Given the description of an element on the screen output the (x, y) to click on. 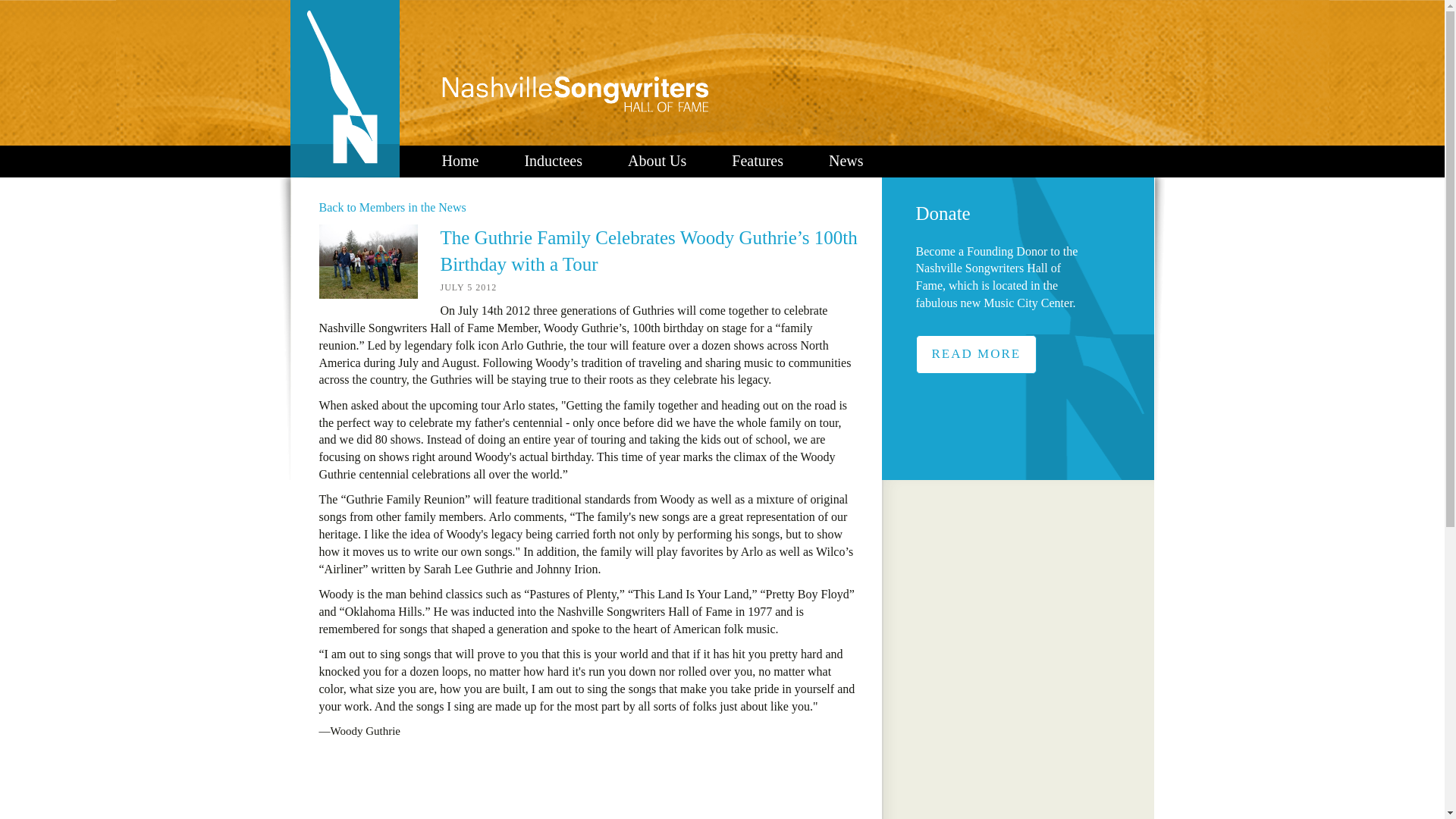
Features (757, 160)
News (846, 160)
About Us (657, 160)
Inductees (552, 160)
Back to Members in the News (391, 206)
Home (459, 160)
READ MORE (975, 353)
